Given the description of an element on the screen output the (x, y) to click on. 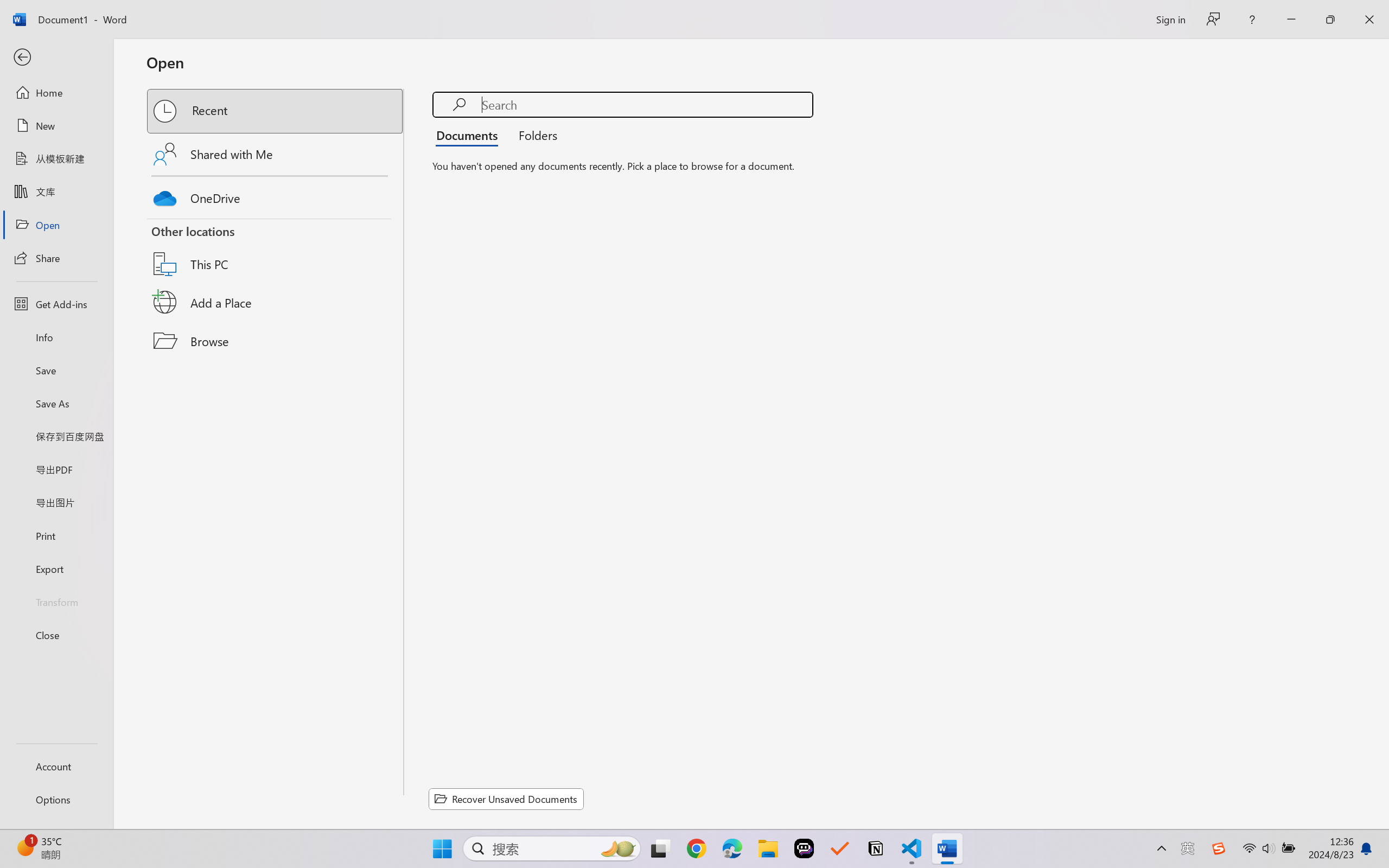
Browse (275, 340)
Recover Unsaved Documents (506, 798)
This PC (275, 249)
Recent (275, 110)
Transform (56, 601)
New (56, 125)
Export (56, 568)
